Given the description of an element on the screen output the (x, y) to click on. 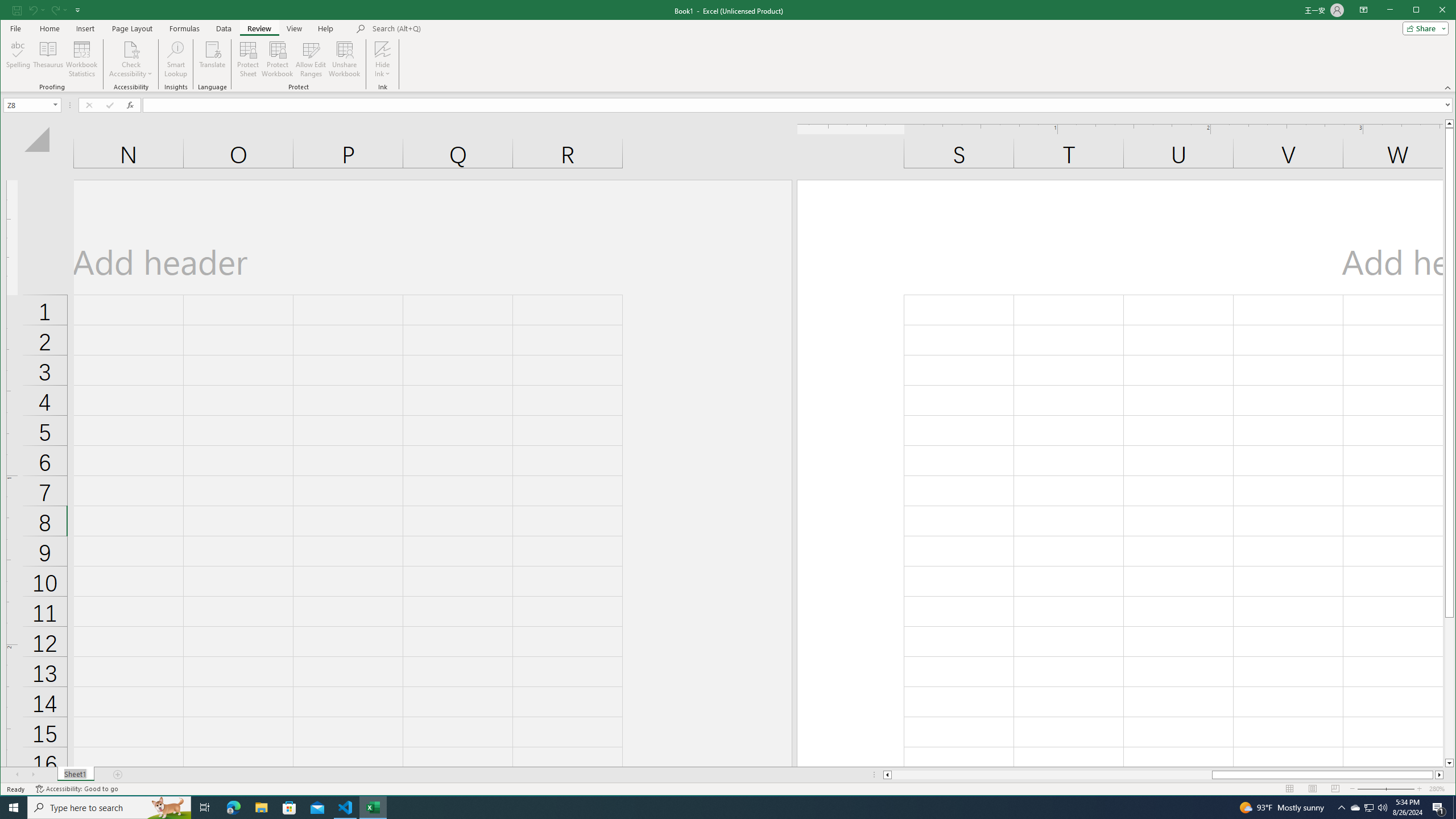
Home (49, 28)
Excel - 1 running window (373, 807)
Spelling... (1368, 807)
Save (18, 59)
Class: NetUIScrollBar (16, 9)
Unshare Workbook (1163, 774)
Line down (344, 59)
Search highlights icon opens search home window (1449, 763)
Close (167, 807)
Data (1444, 11)
Scroll Right (223, 28)
Scroll Left (34, 774)
